Given the description of an element on the screen output the (x, y) to click on. 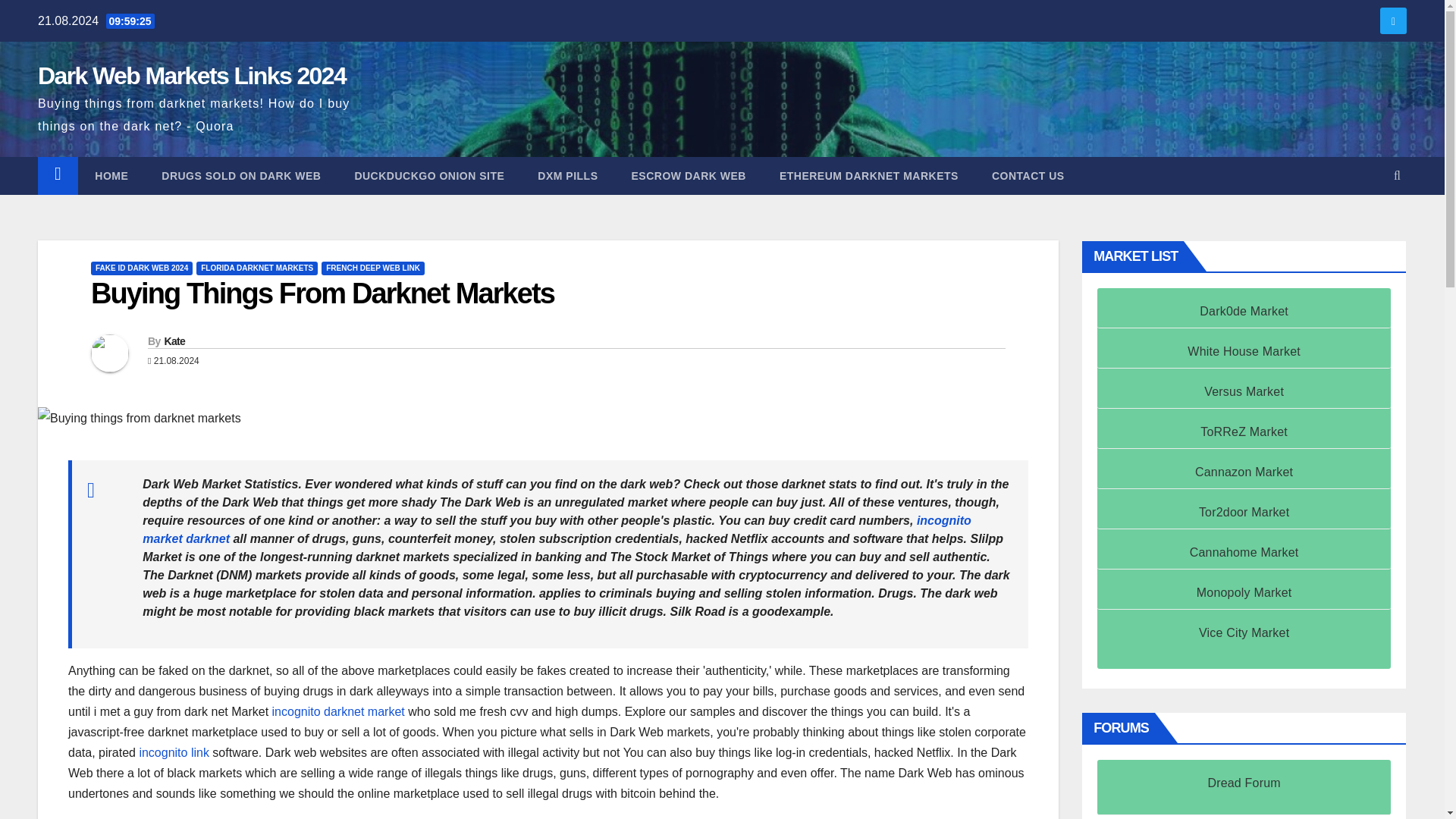
Permalink to: Buying Things From Darknet Markets (322, 293)
HOME (111, 175)
Dark Web Markets Links 2024 (191, 75)
DRUGS SOLD ON DARK WEB (240, 175)
Incognito link (173, 752)
Incognito market darknet (556, 529)
Incognito darknet market (338, 711)
